Given the description of an element on the screen output the (x, y) to click on. 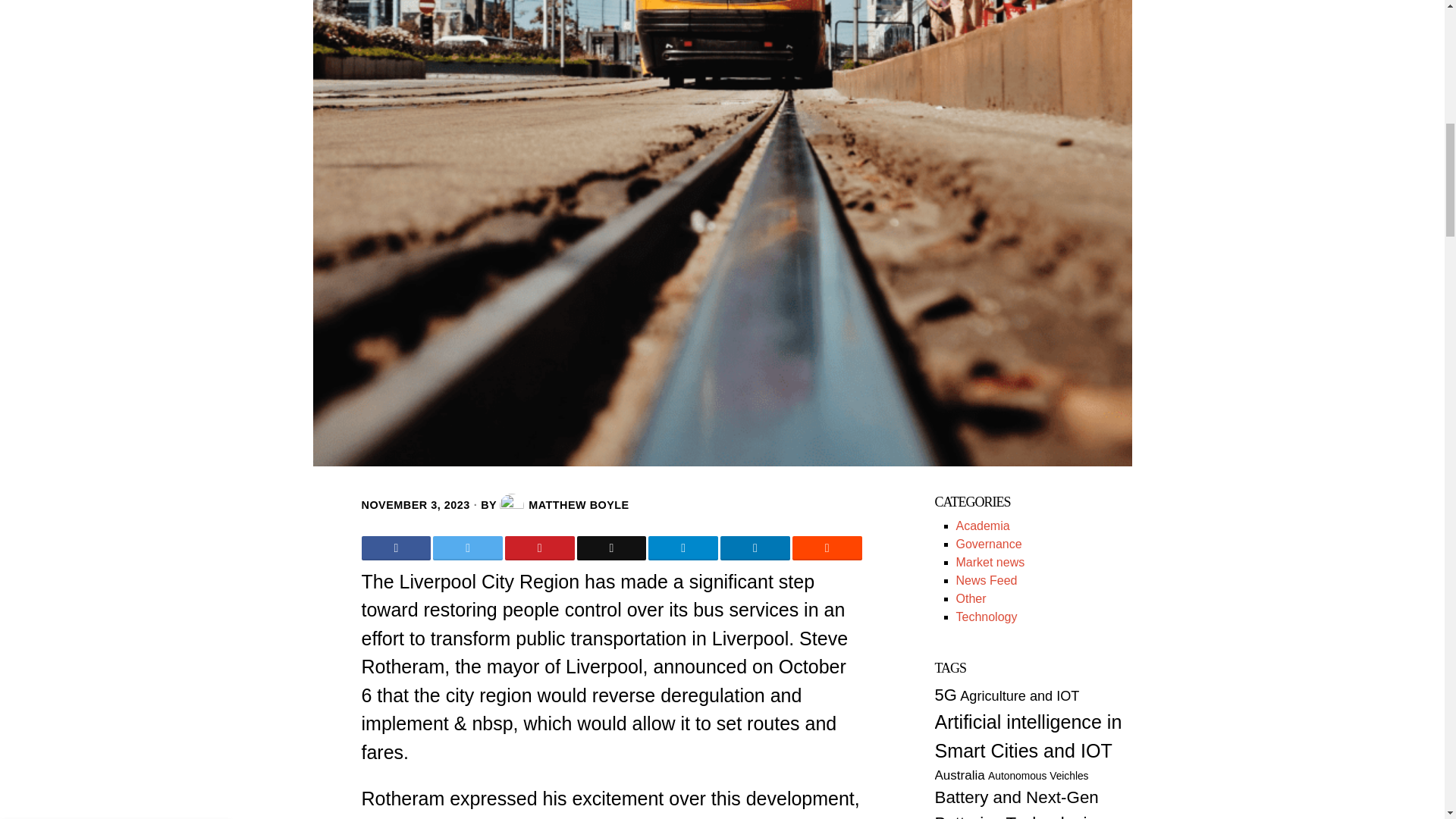
MATTHEW BOYLE (563, 505)
03 Nov, 2023 05:00:00 (414, 504)
